Given the description of an element on the screen output the (x, y) to click on. 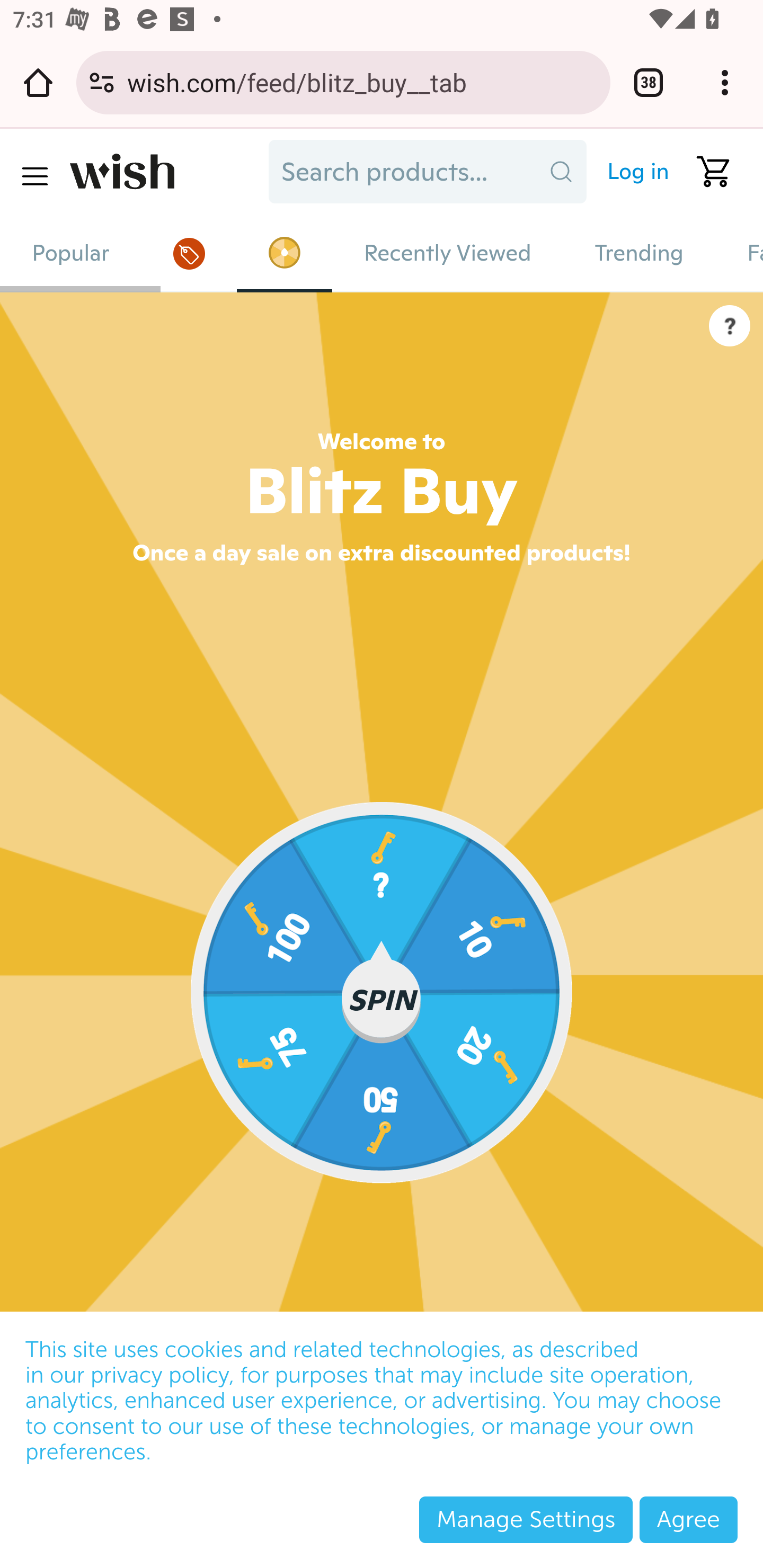
Open the home page (38, 82)
Connection is secure (101, 82)
Switch or close tabs (648, 82)
Customize and control Google Chrome (724, 82)
wish.com/feed/blitz_buy__tab (362, 82)
Search (560, 171)
Log in (629, 171)
Shopping Cart: 0 items (705, 171)
Main Menu (34, 176)
www.wish (162, 171)
Deals Hub (188, 252)
blitz_buy__tab (283, 252)
Popular (70, 252)
Recently Viewed (447, 252)
Trending (638, 252)
Manage Settings (526, 1518)
Agree (688, 1518)
